Given the description of an element on the screen output the (x, y) to click on. 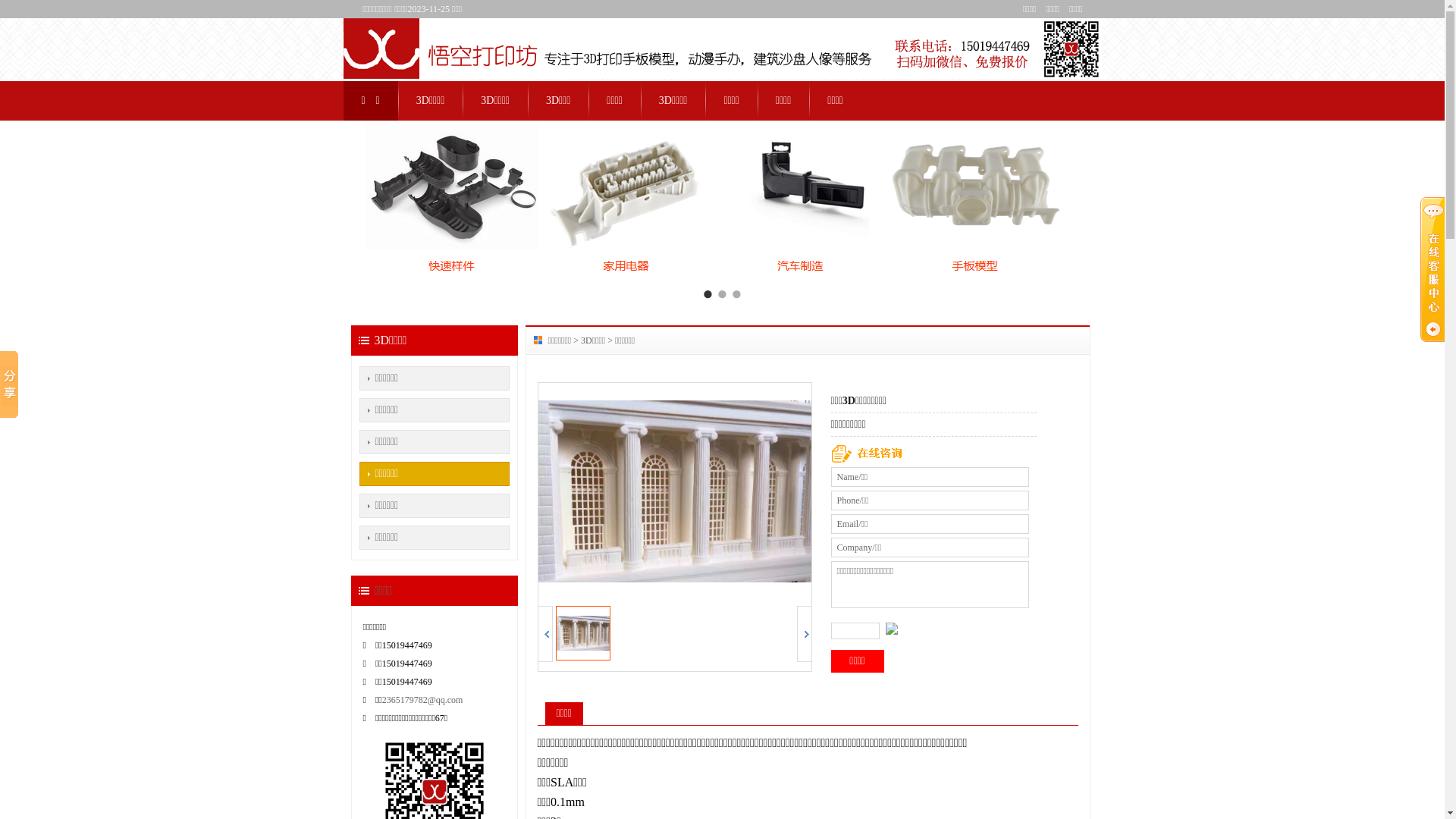
2365179782@qq.com Element type: text (422, 699)
